Given the description of an element on the screen output the (x, y) to click on. 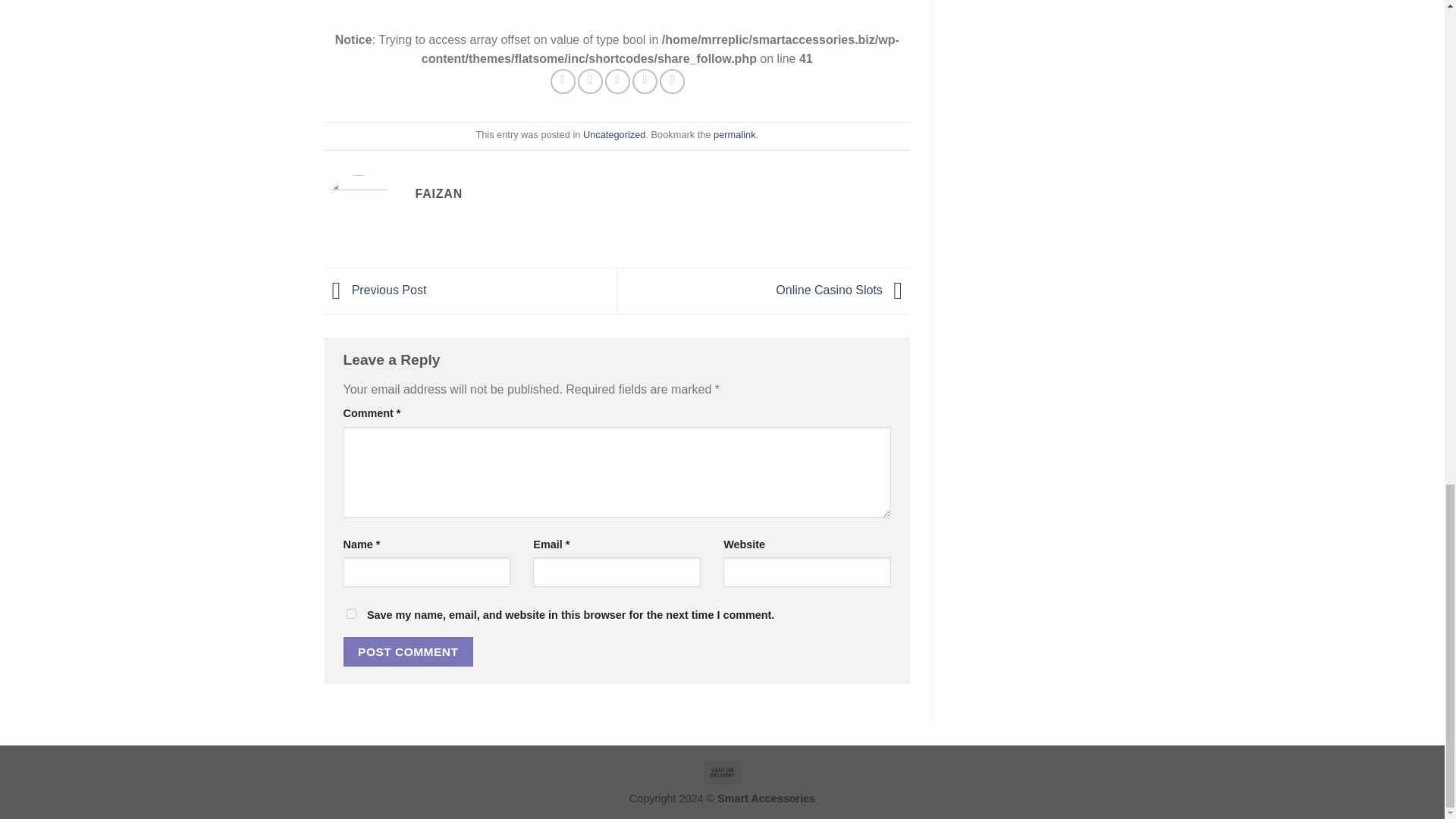
yes (350, 614)
permalink (734, 134)
Permalink to Finding Cheap Essays Online (734, 134)
Online Casino Slots (843, 289)
Post Comment (407, 651)
Uncategorized (614, 134)
Previous Post (375, 289)
Post Comment (407, 651)
